Given the description of an element on the screen output the (x, y) to click on. 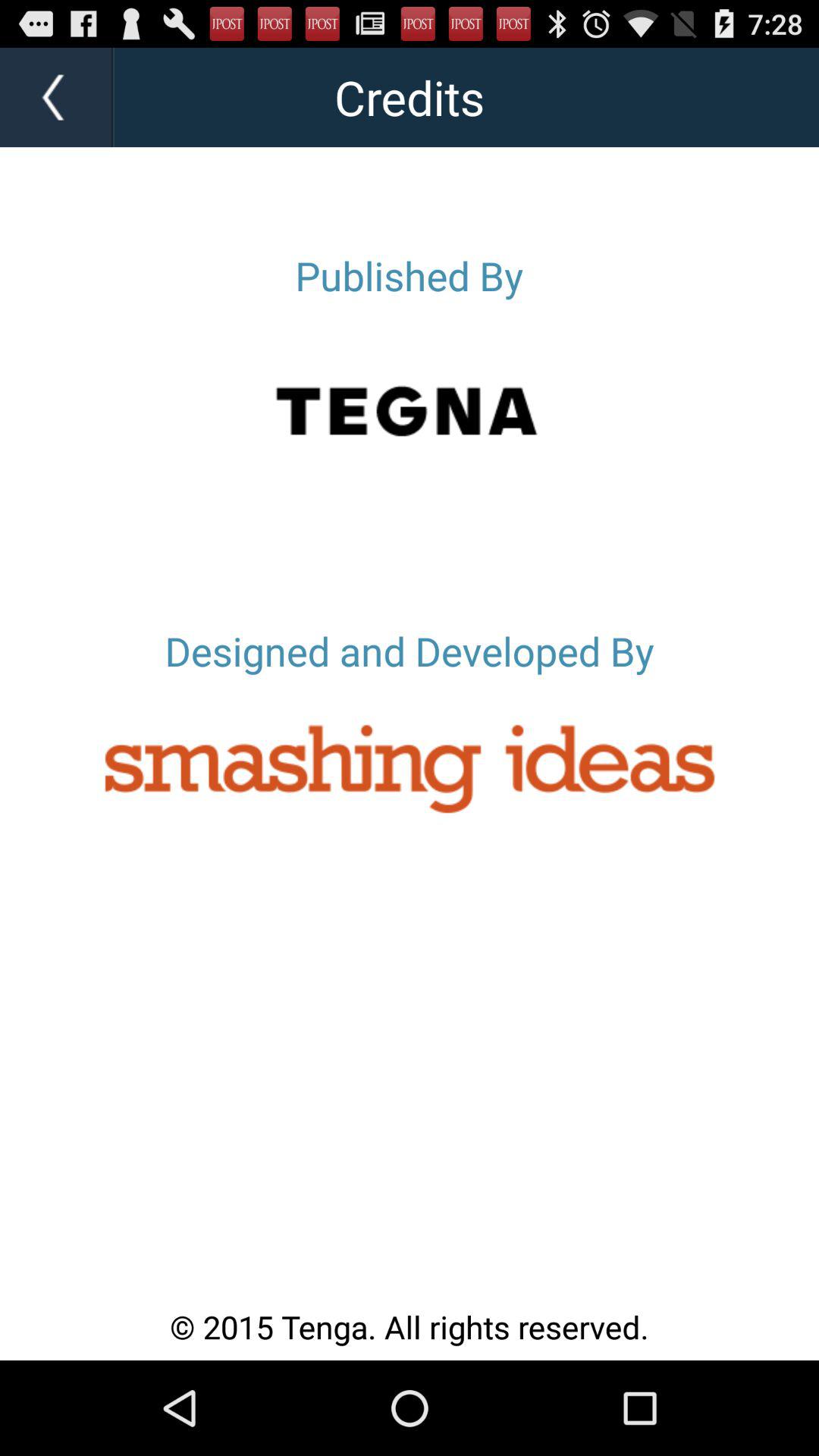
go back (57, 97)
